Given the description of an element on the screen output the (x, y) to click on. 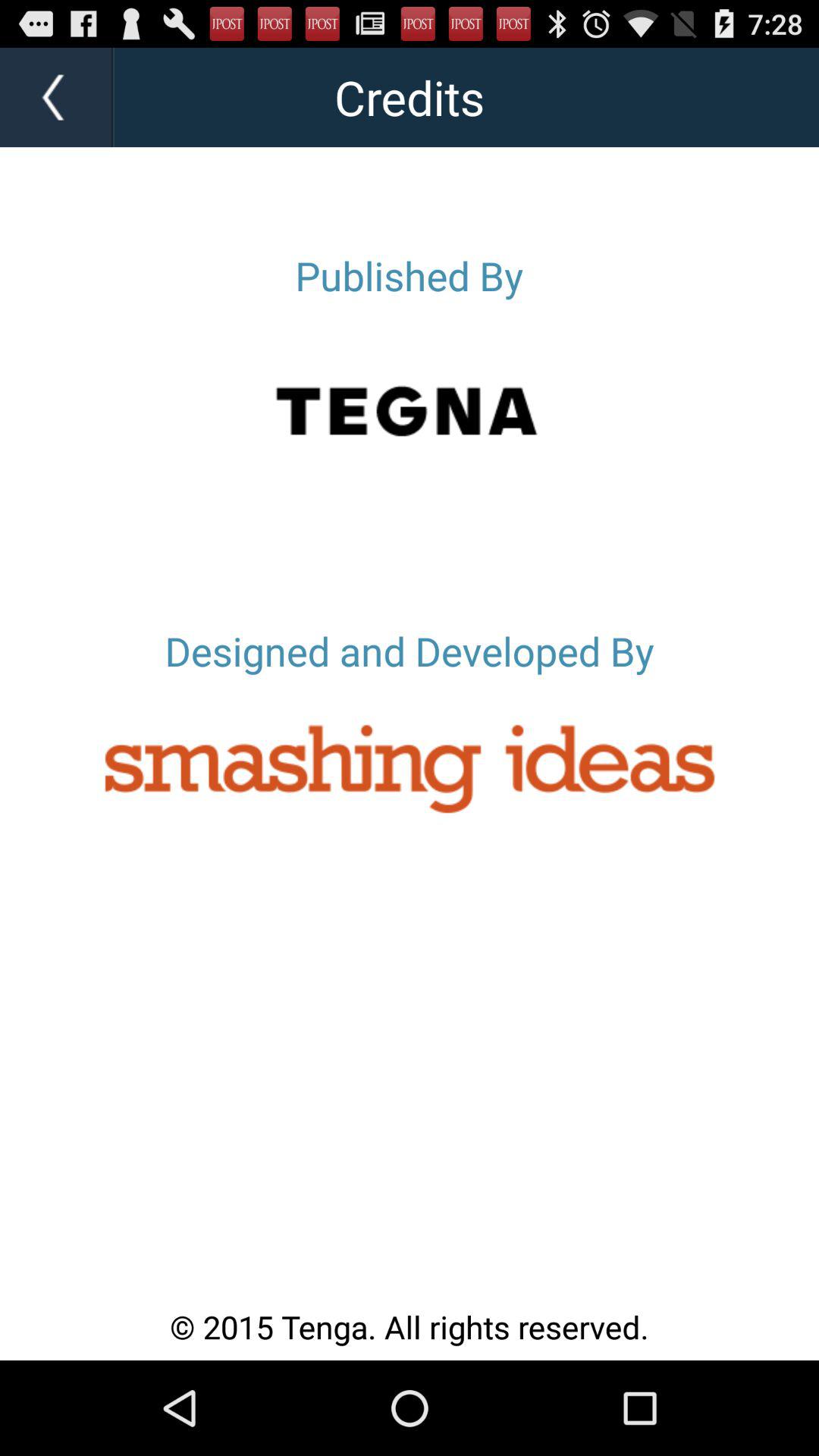
go back (57, 97)
